Given the description of an element on the screen output the (x, y) to click on. 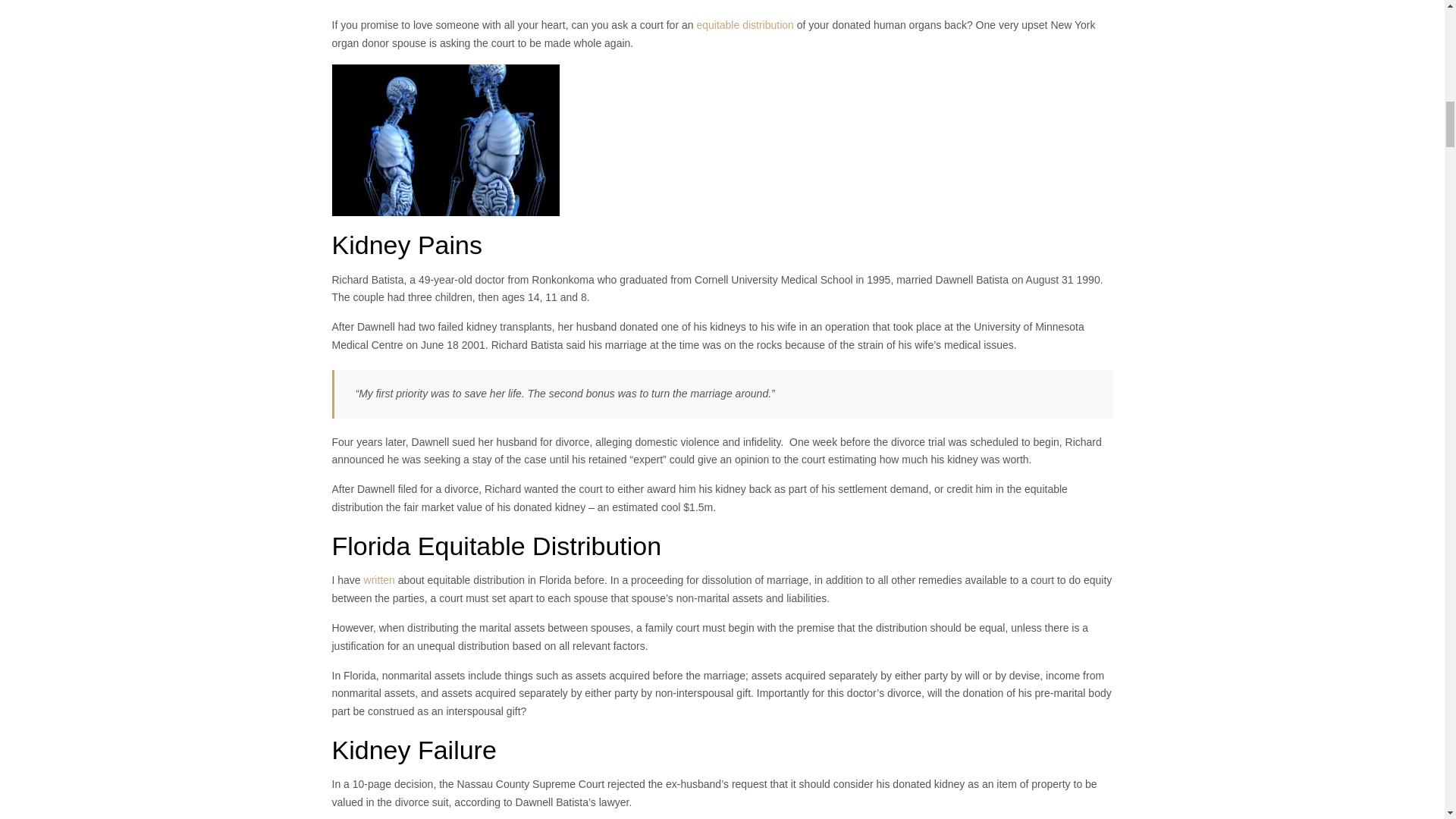
equitable distribution (744, 24)
equitable distribution organs (445, 140)
written (380, 580)
